Given the description of an element on the screen output the (x, y) to click on. 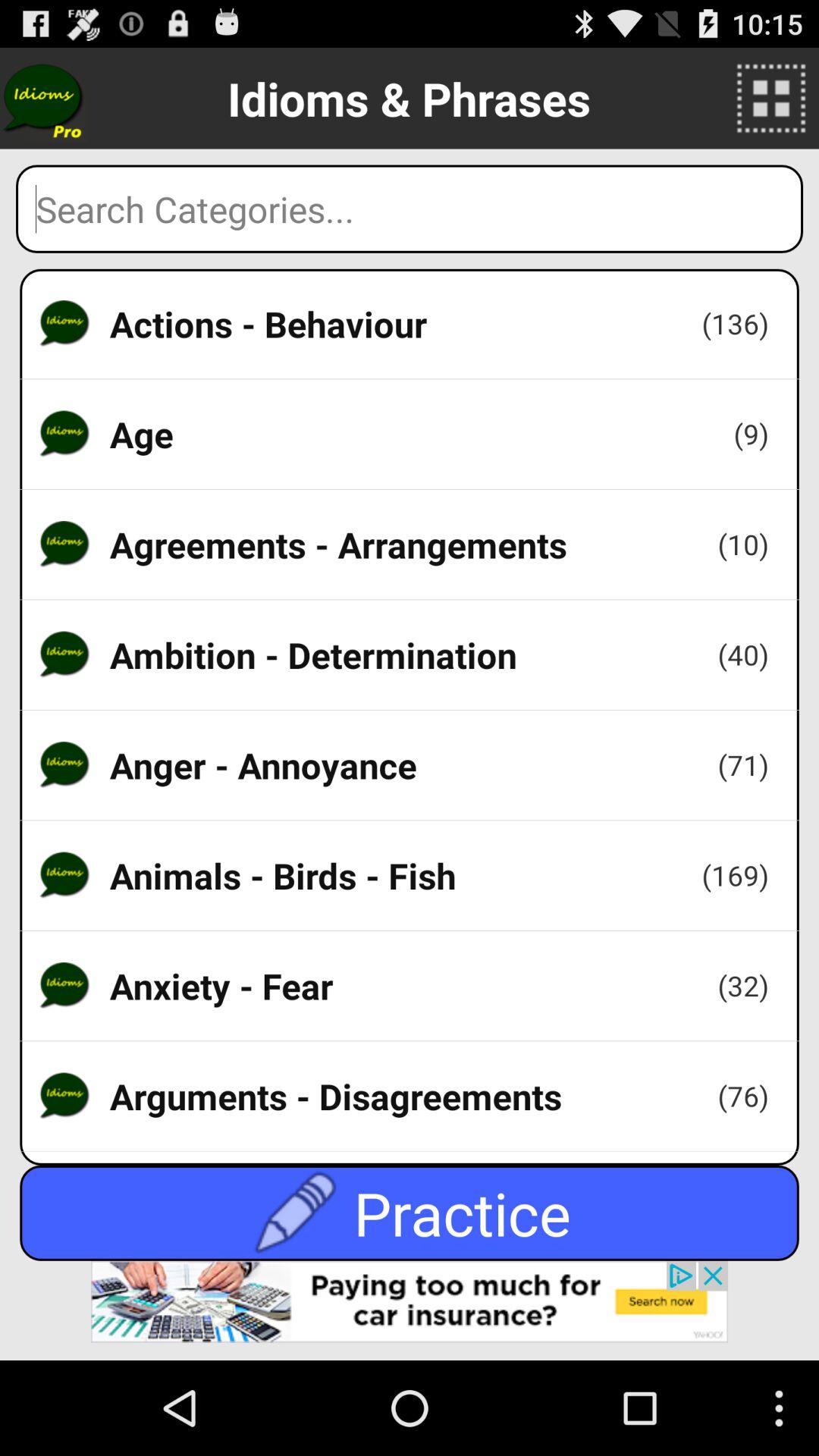
close the app (409, 1310)
